Given the description of an element on the screen output the (x, y) to click on. 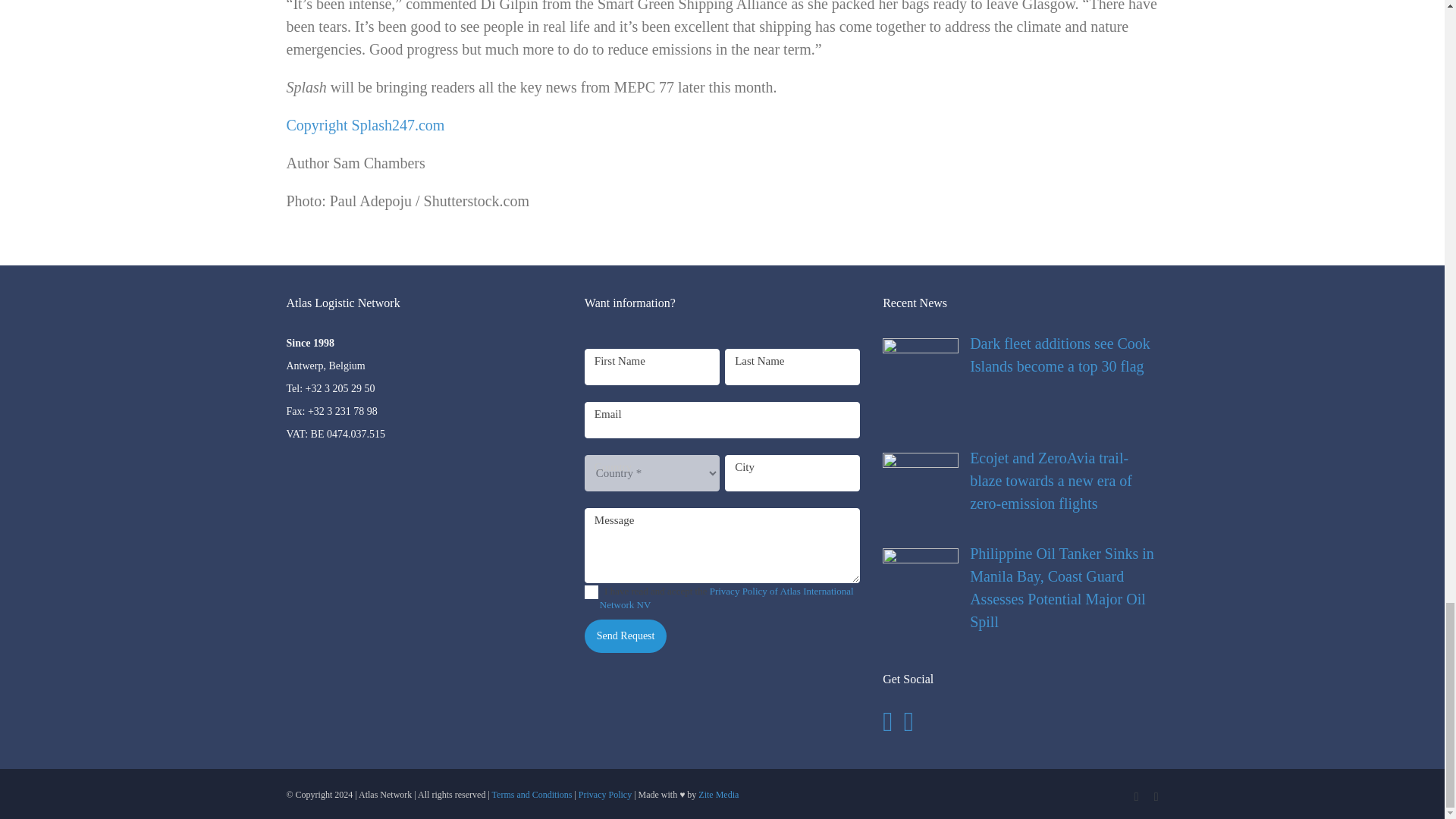
Copyright Splash247.com (365, 125)
Privacy Policy (604, 794)
Zite Media (718, 794)
Privacy Policy of Atlas International Network NV (726, 597)
Terms and Conditions (532, 794)
Send Request (625, 635)
Dark fleet additions see Cook Islands become a top 30 flag (1019, 354)
